Given the description of an element on the screen output the (x, y) to click on. 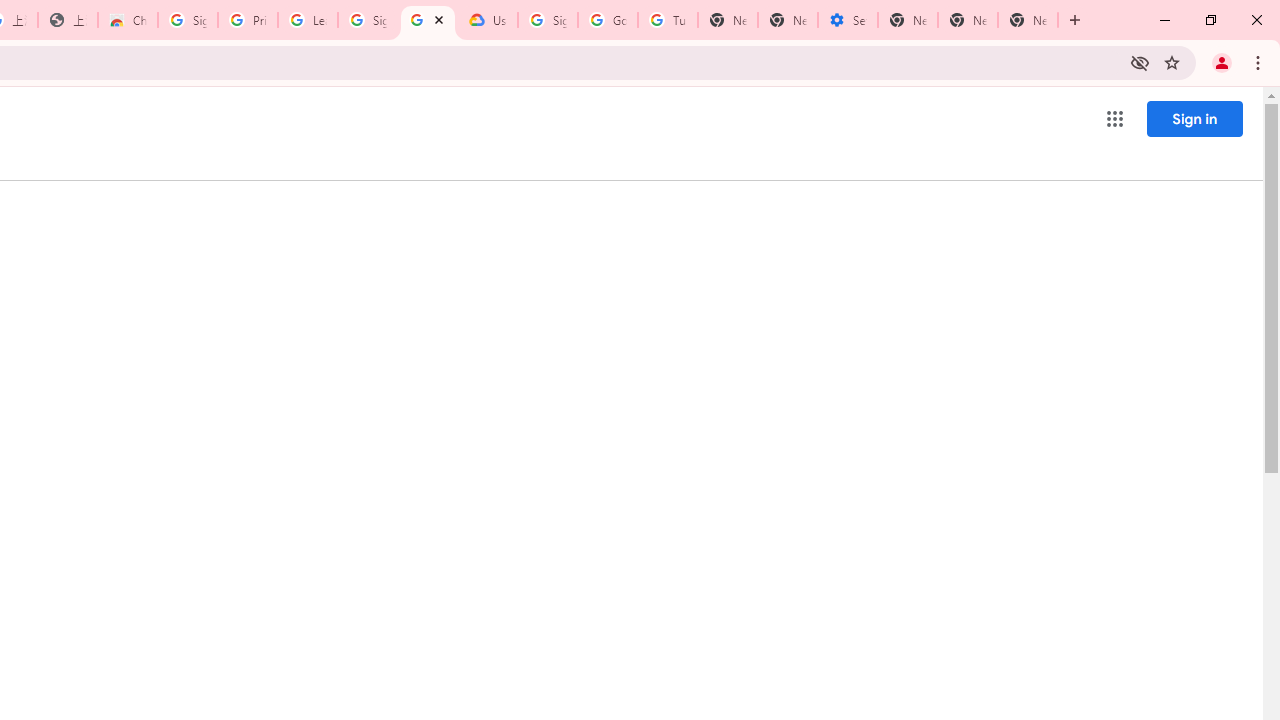
Sign in - Google Accounts (367, 20)
Settings - Addresses and more (847, 20)
Sign in - Google Accounts (187, 20)
Chrome Web Store - Color themes by Chrome (127, 20)
New Tab (908, 20)
